Given the description of an element on the screen output the (x, y) to click on. 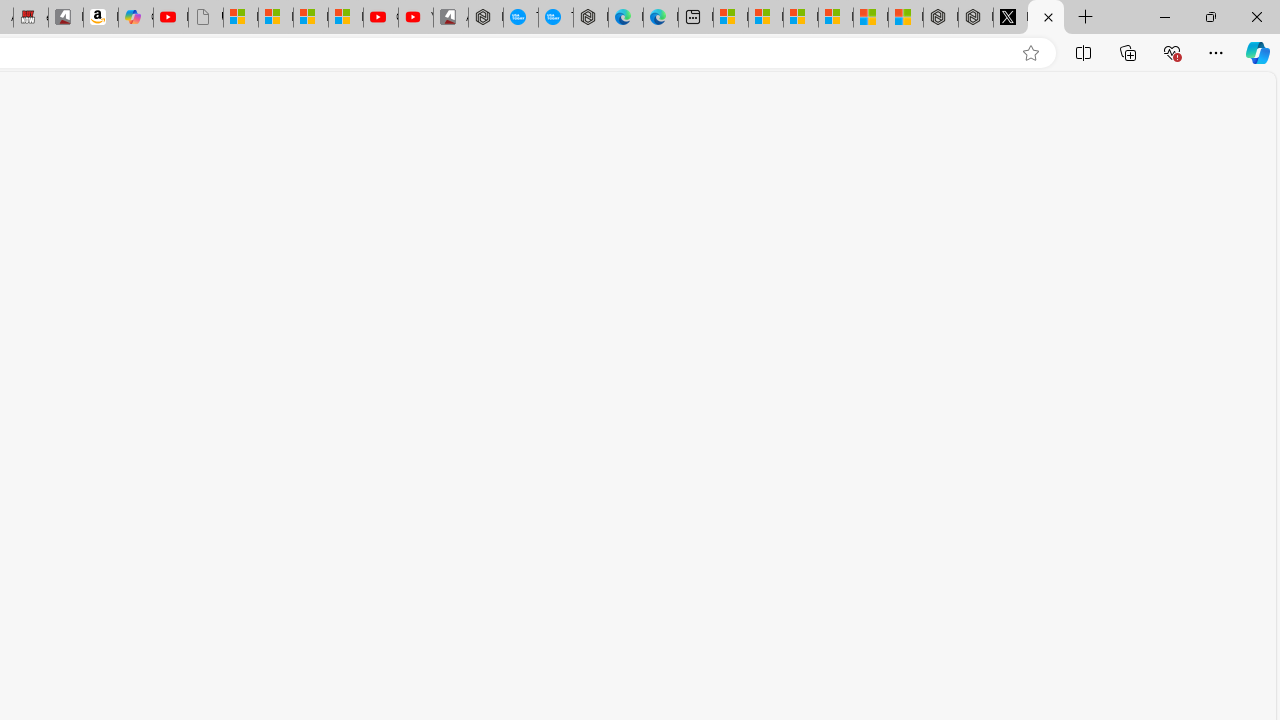
The most popular Google 'how to' searches (555, 17)
Microsoft account | Microsoft Account Privacy Settings (765, 17)
Untitled (1046, 17)
Day 1: Arriving in Yemen (surreal to be here) - YouTube (170, 17)
Nordace - Nordace has arrived Hong Kong (590, 17)
Copilot (136, 17)
Microsoft account | Privacy (835, 17)
